Given the description of an element on the screen output the (x, y) to click on. 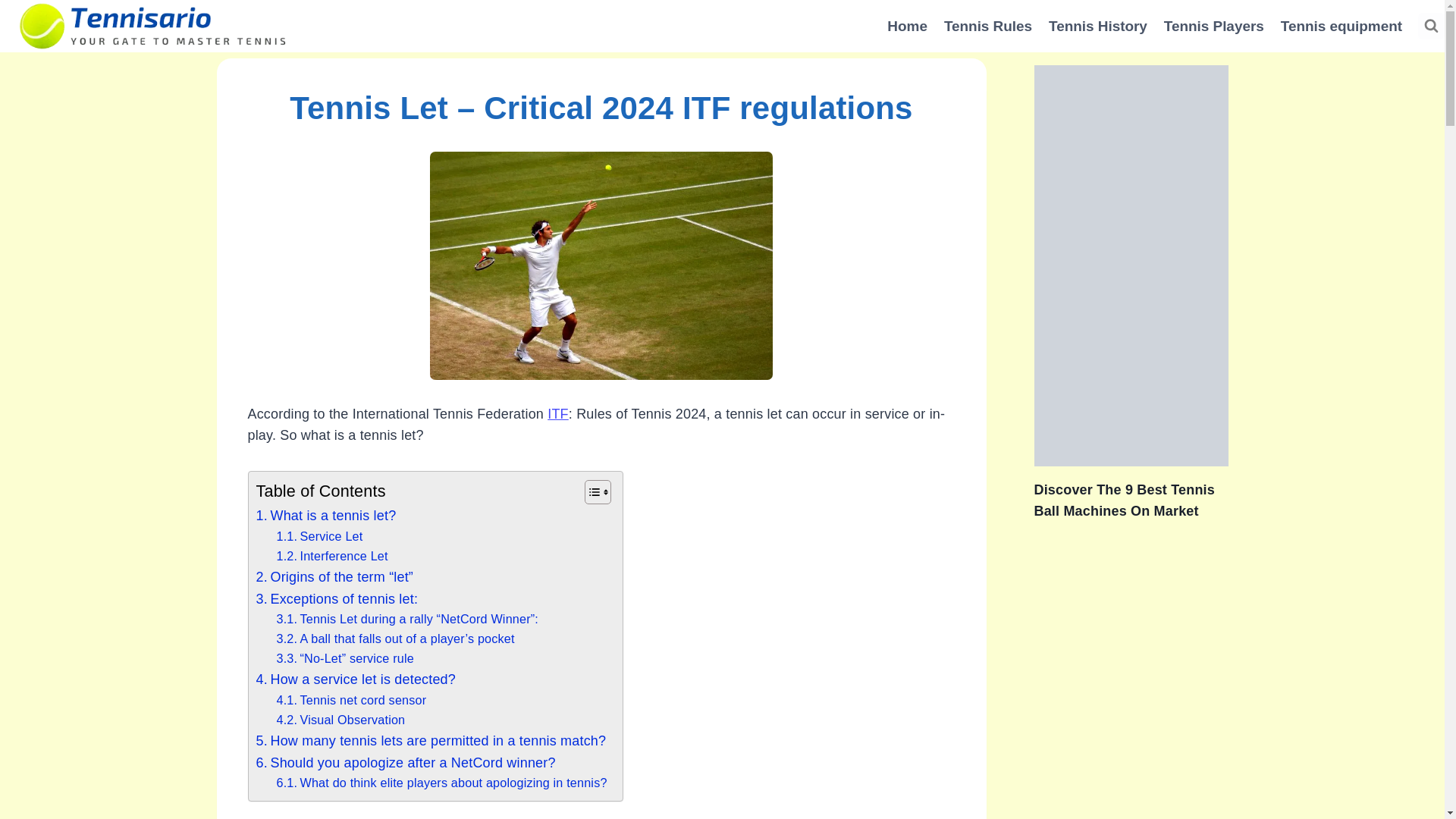
Visual Observation (340, 720)
How a service let is detected? (356, 680)
ITF (558, 413)
How many tennis lets are permitted in a tennis match? (431, 741)
Interference Let (331, 556)
Tennis Players (1214, 25)
Interference Let (331, 556)
Tennis equipment (1341, 25)
Tennis net cord sensor (351, 700)
What do think elite players about apologizing in tennis? (441, 783)
